Given the description of an element on the screen output the (x, y) to click on. 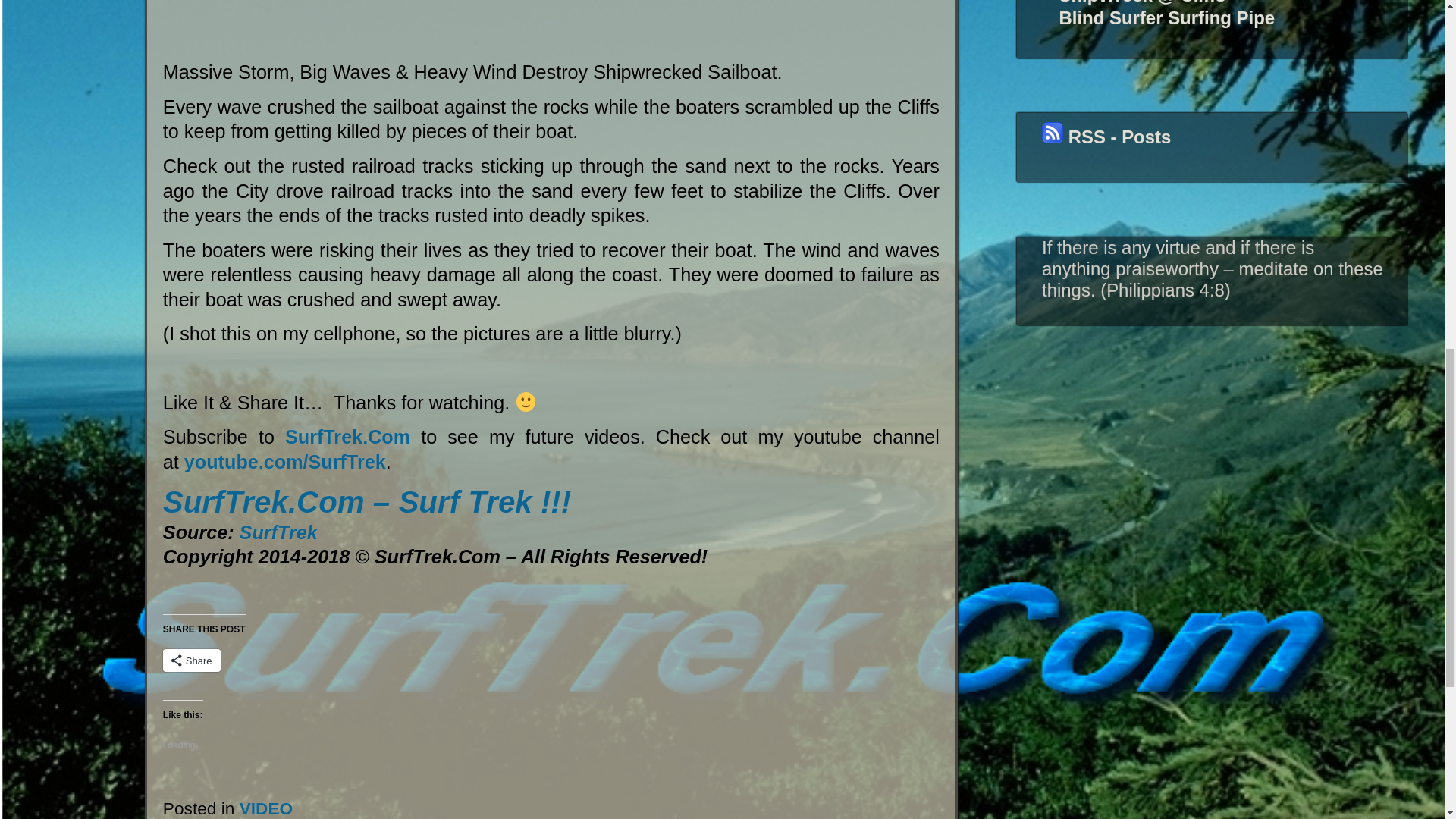
Blind Surfer Surfing Pipe (1166, 17)
VIDEO (267, 808)
 RSS - Posts (1106, 136)
SurfTrek.Com (347, 436)
CLICK HERE To Go To SurfTrek.Com (366, 501)
CLICK HERE To Go To SurfTrek.Com (347, 436)
Go To SurfTrek YouTube Video Channel (278, 531)
Share (192, 660)
SurfTrek (278, 531)
Go To Surf Trek YouTube Video Channel (284, 461)
Subscribe to posts (1106, 136)
